Given the description of an element on the screen output the (x, y) to click on. 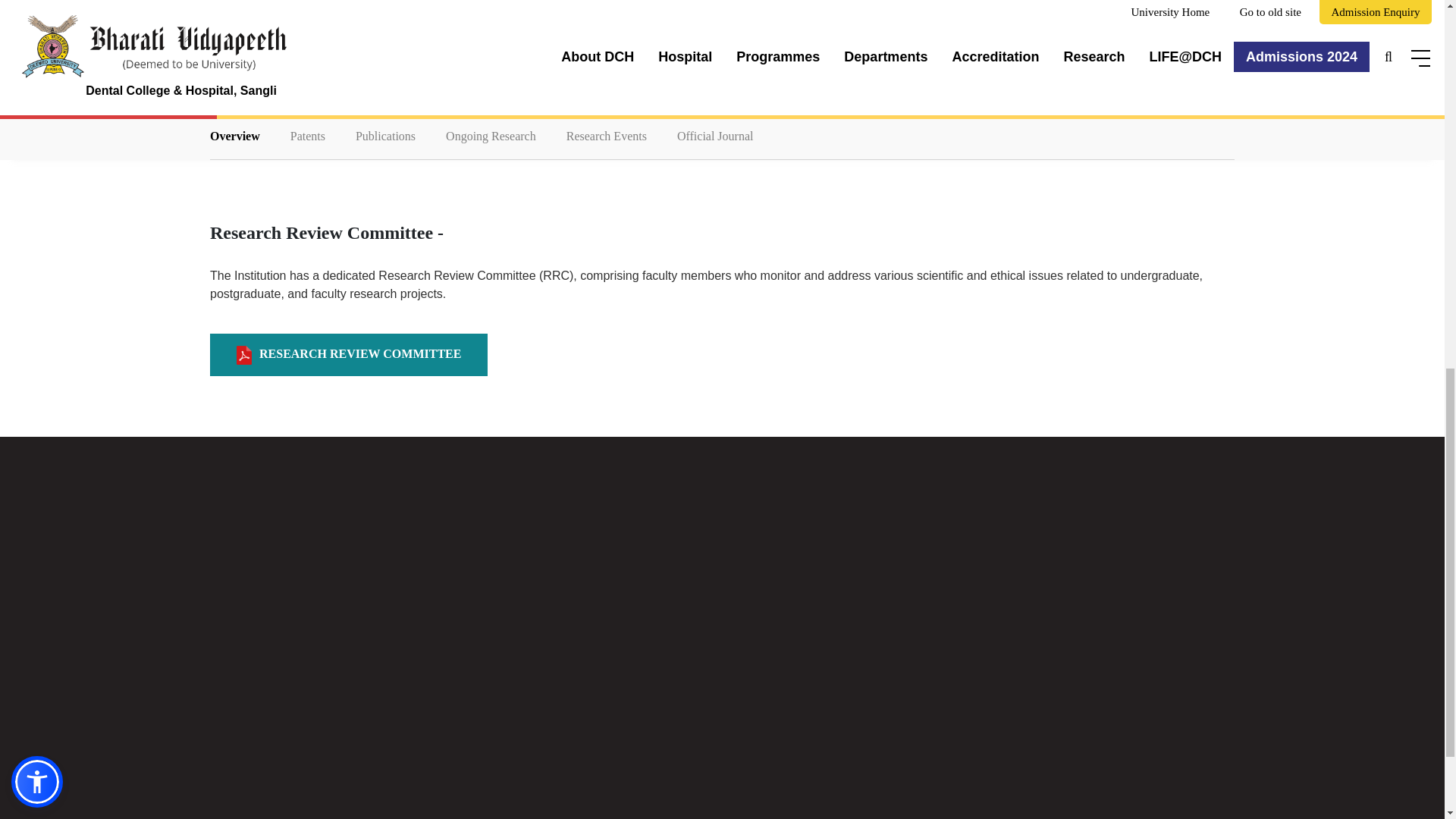
Open Accessibility Menu (36, 26)
